Given the description of an element on the screen output the (x, y) to click on. 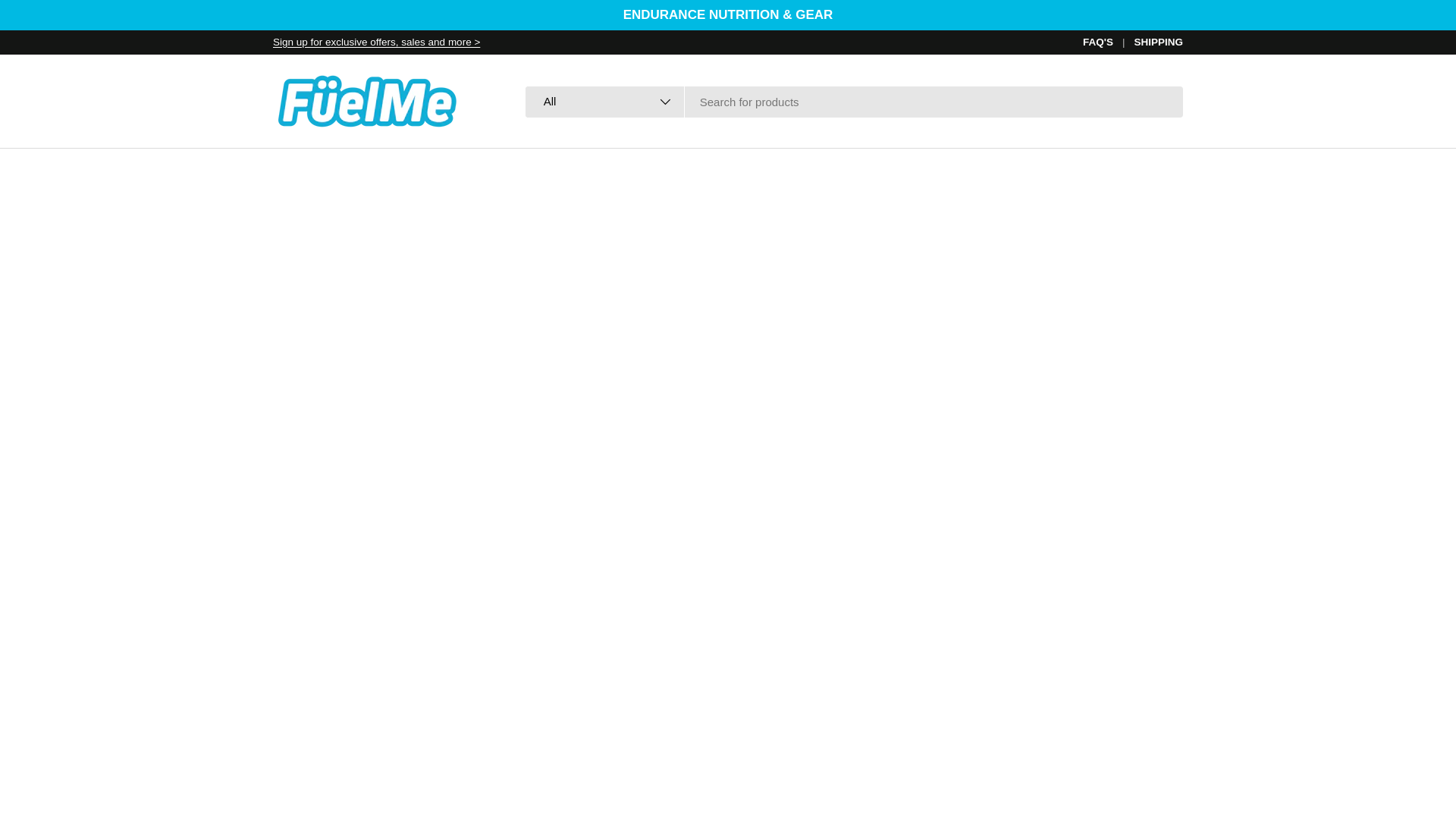
FAQ'S (1108, 42)
All (604, 101)
Email Signup (376, 41)
SHIPPING (1158, 42)
SKIP TO CONTENT (69, 21)
